Given the description of an element on the screen output the (x, y) to click on. 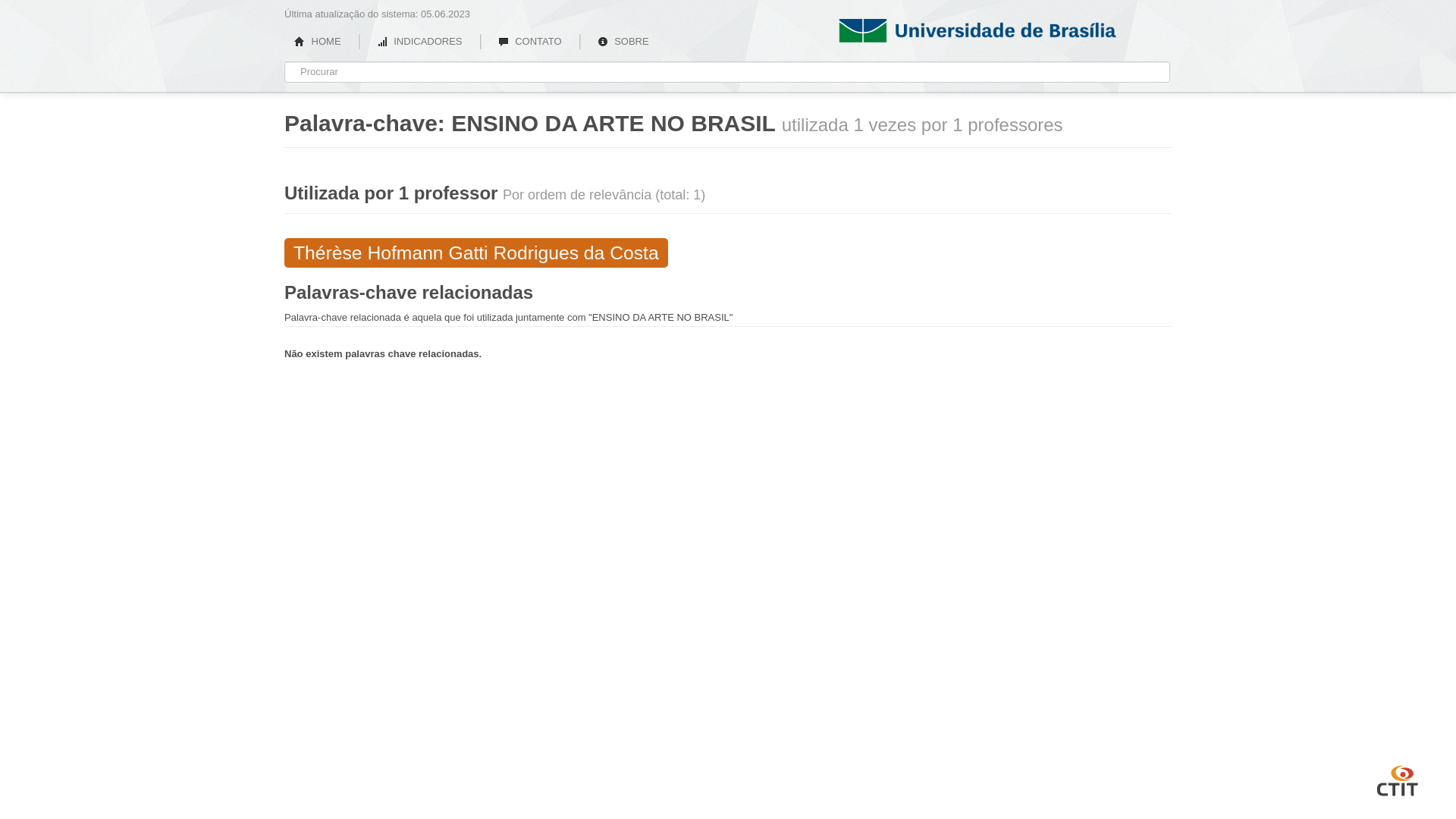
CTIT UFMG Element type: text (1397, 778)
UnB Element type: text (1000, 26)
INDICADORES Element type: text (419, 41)
HOME Element type: text (317, 41)
CONTATO Element type: text (529, 41)
SOBRE Element type: text (622, 41)
